Given the description of an element on the screen output the (x, y) to click on. 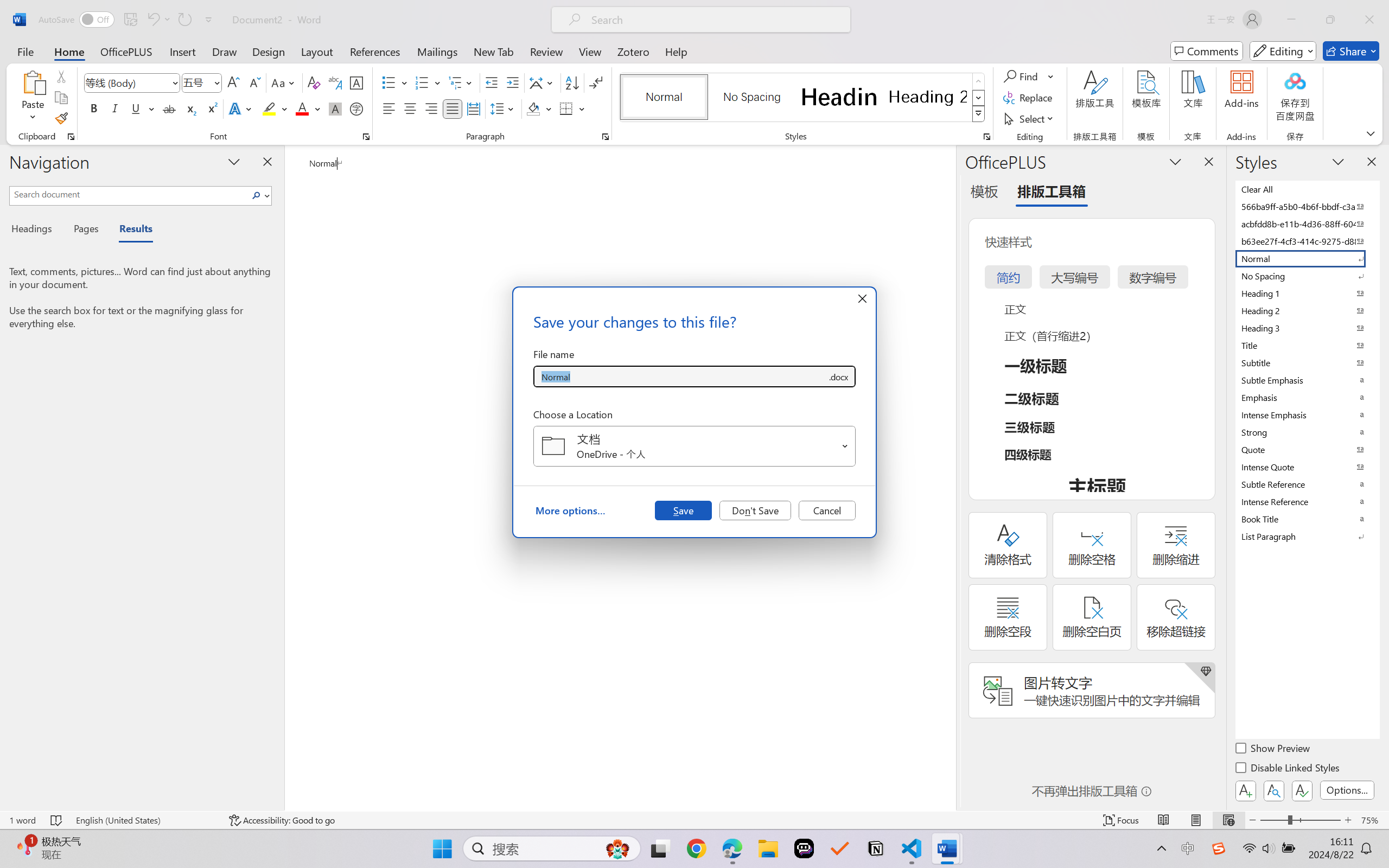
acbfdd8b-e11b-4d36-88ff-6049b138f862 (1306, 223)
Focus  (1121, 819)
Results (130, 229)
Multilevel List (461, 82)
Cancel (826, 509)
Grow Font (233, 82)
Class: NetUIImage (978, 114)
Options... (1346, 789)
